Given the description of an element on the screen output the (x, y) to click on. 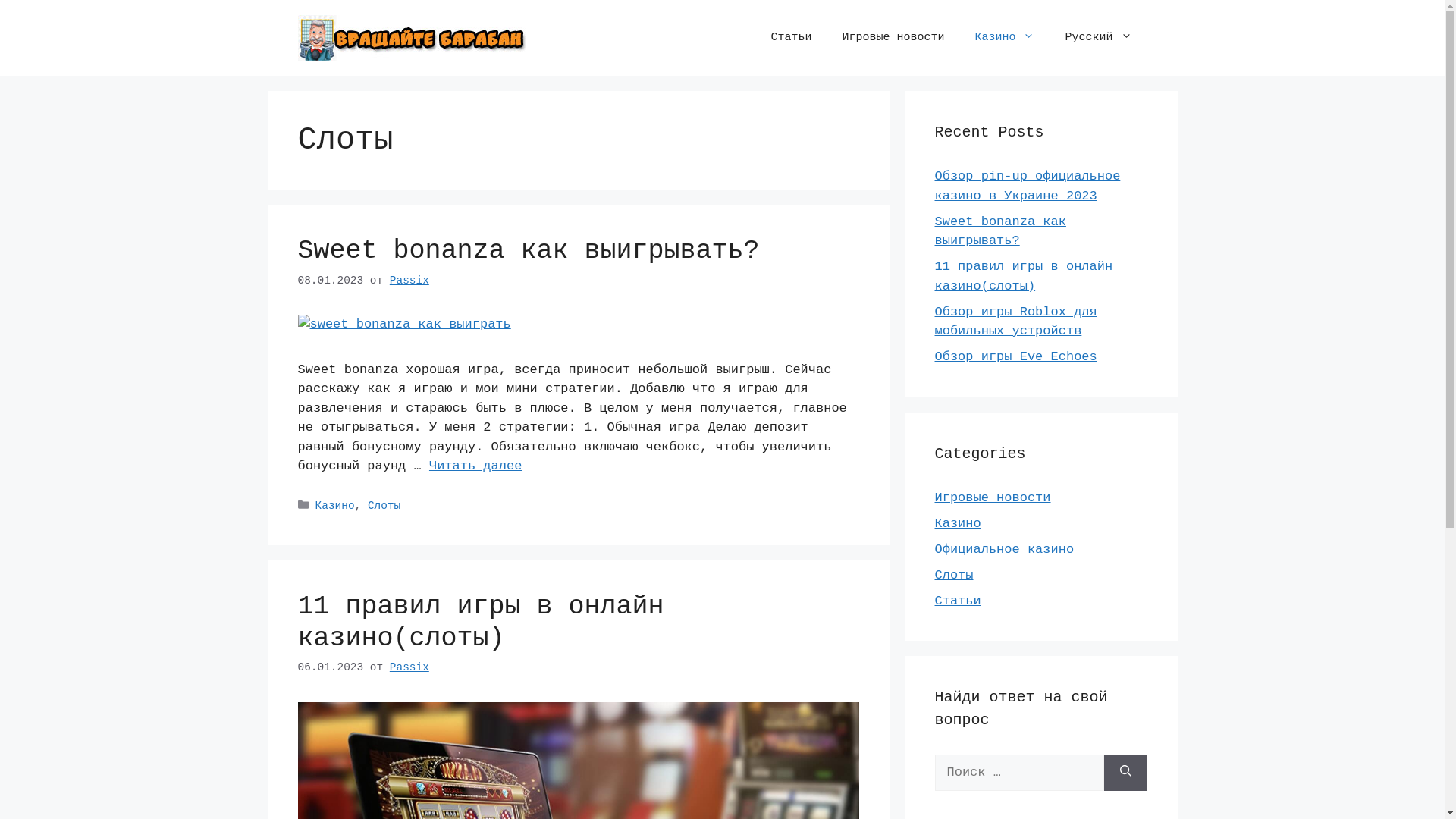
Passix Element type: text (409, 280)
Passix Element type: text (409, 667)
